Given the description of an element on the screen output the (x, y) to click on. 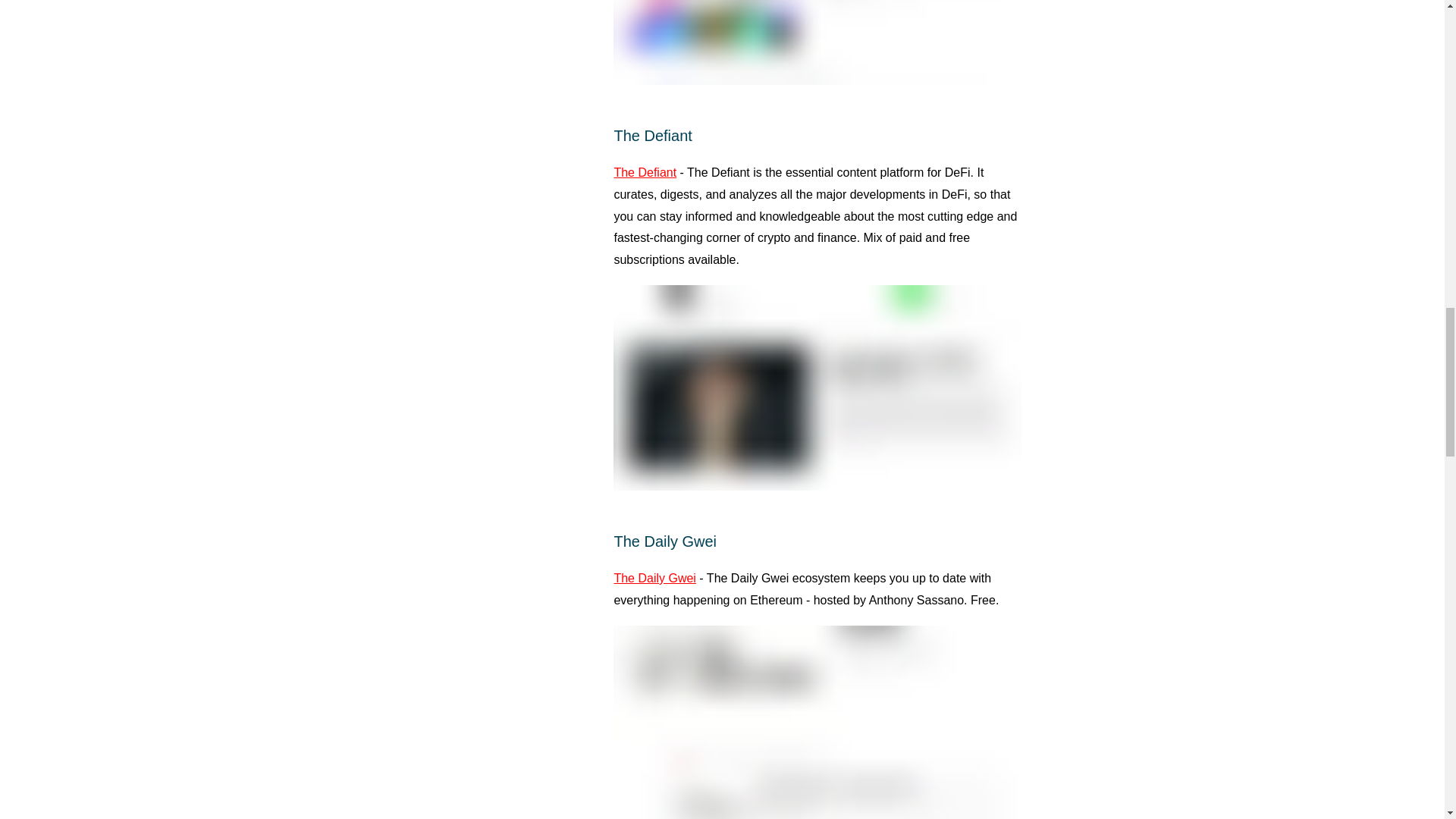
The Daily Gwei (653, 577)
The Defiant (644, 172)
